Given the description of an element on the screen output the (x, y) to click on. 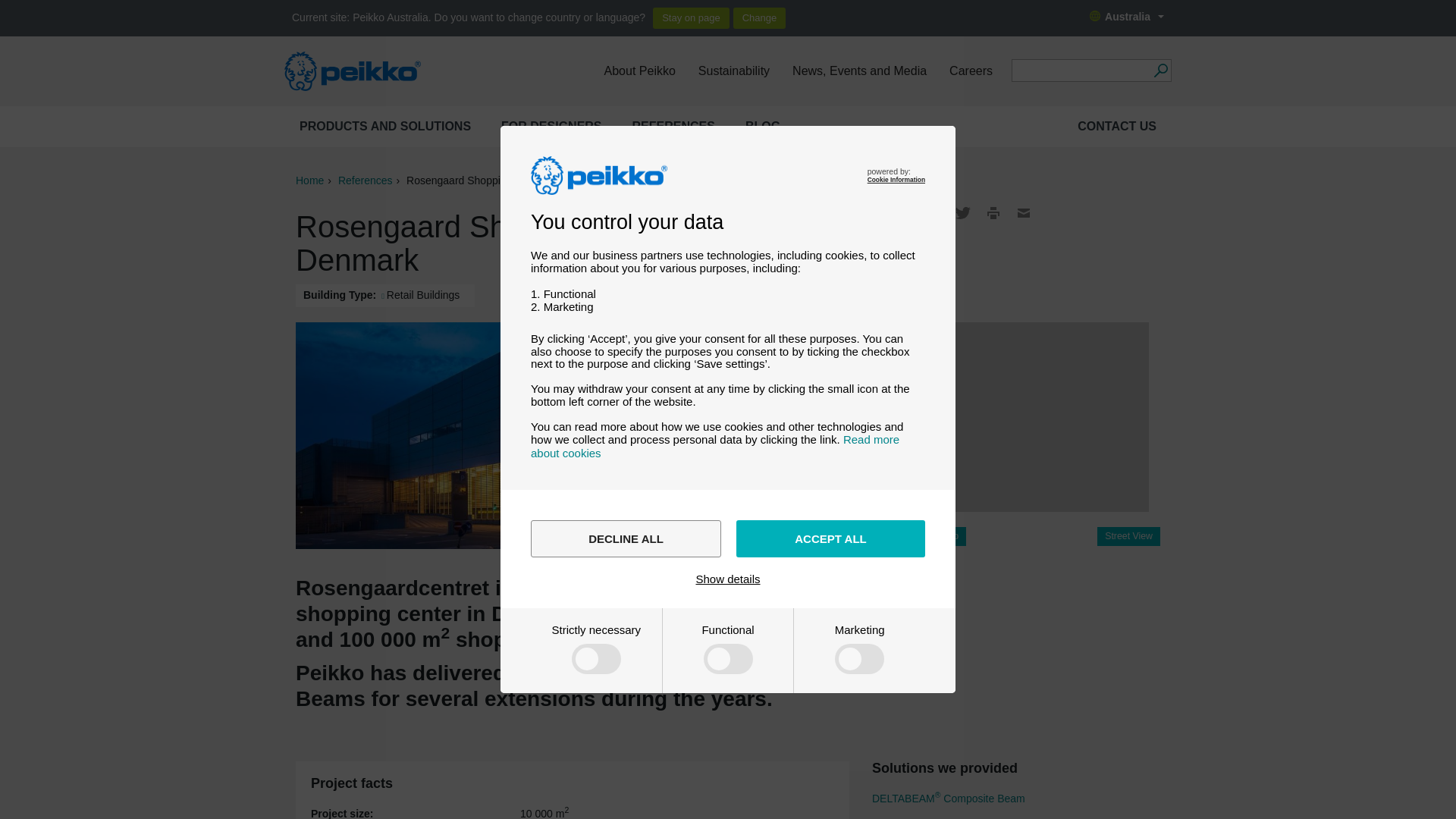
Change (759, 17)
ACCEPT ALL (830, 538)
Australia (1126, 16)
DECLINE ALL (625, 538)
Read more about cookies (715, 446)
Stay on page (690, 17)
Cookie Information (895, 179)
Show details (727, 578)
Email link (1023, 212)
